Given the description of an element on the screen output the (x, y) to click on. 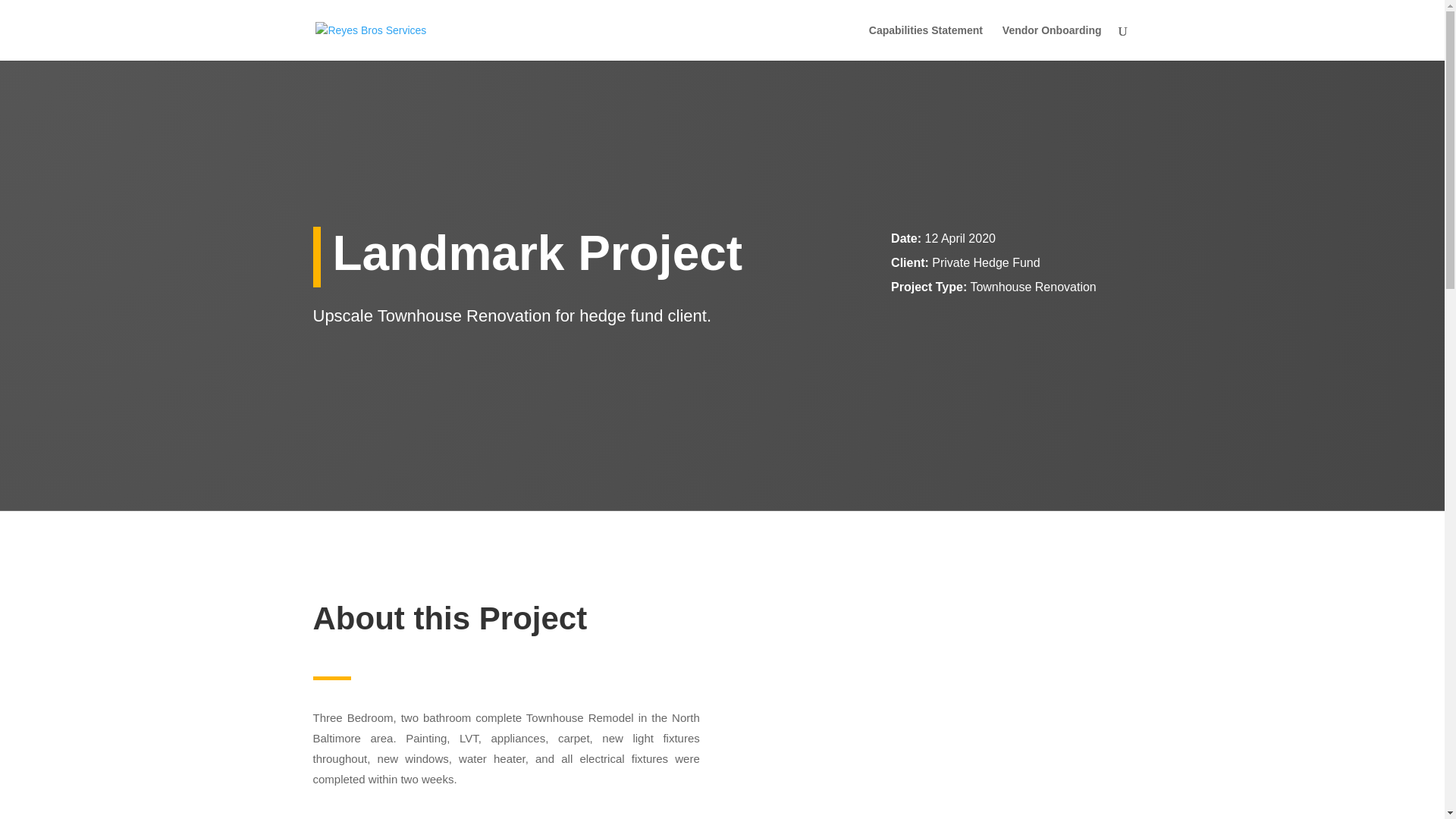
Vendor Onboarding (1052, 42)
Capabilities Statement (925, 42)
